Given the description of an element on the screen output the (x, y) to click on. 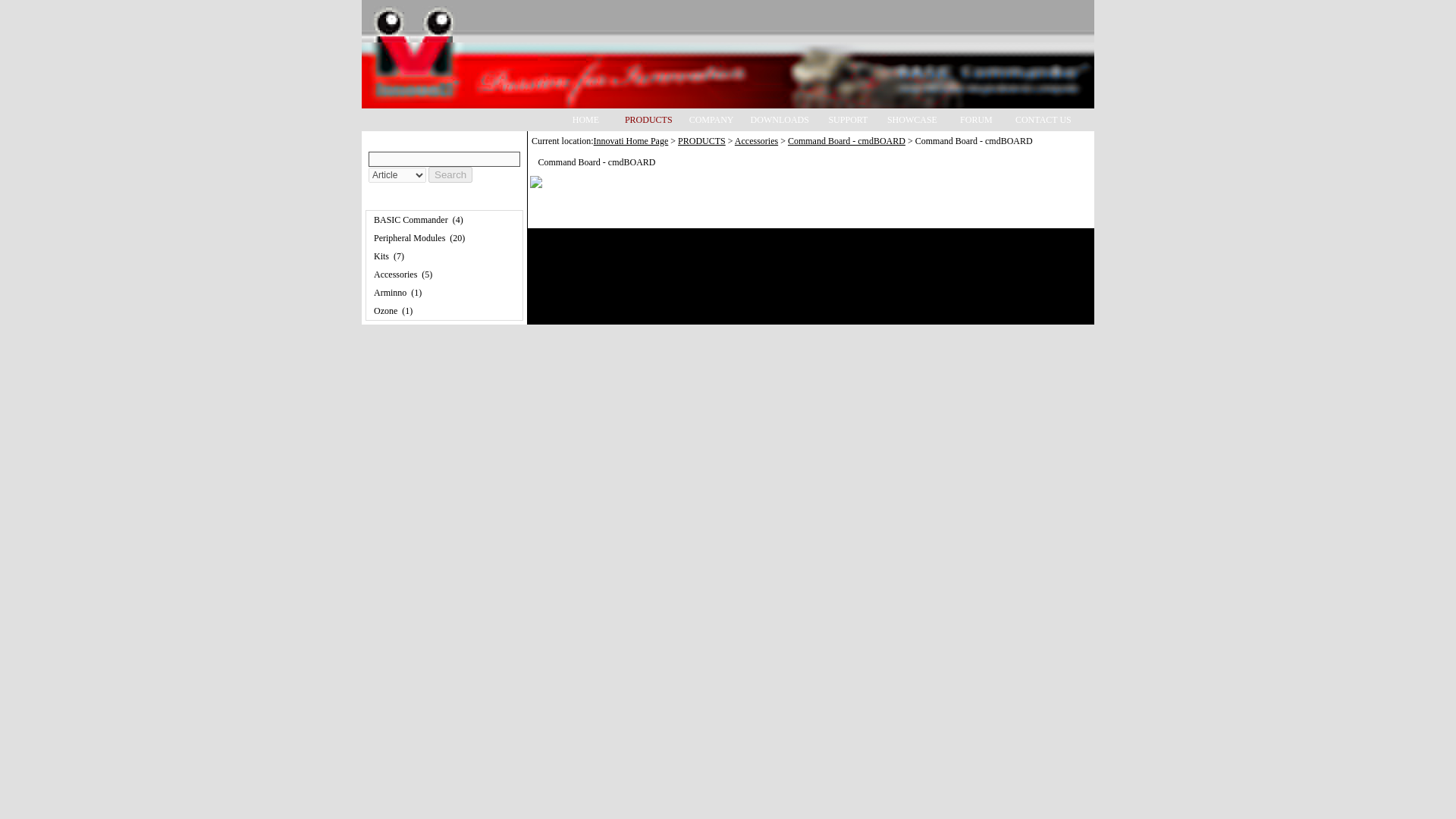
Search (449, 174)
CONTACT US (1042, 118)
SUPPORT (847, 118)
PRODUCTS (701, 140)
SHOWCASE (911, 118)
FORUM (975, 118)
Peripheral Modules (409, 237)
Search (449, 174)
PRODUCTS (648, 118)
BASIC Commander (411, 219)
Ozone (385, 310)
Command Board - cmdBOARD (846, 140)
HOME (585, 118)
Accessories (756, 140)
Kits (381, 255)
